Given the description of an element on the screen output the (x, y) to click on. 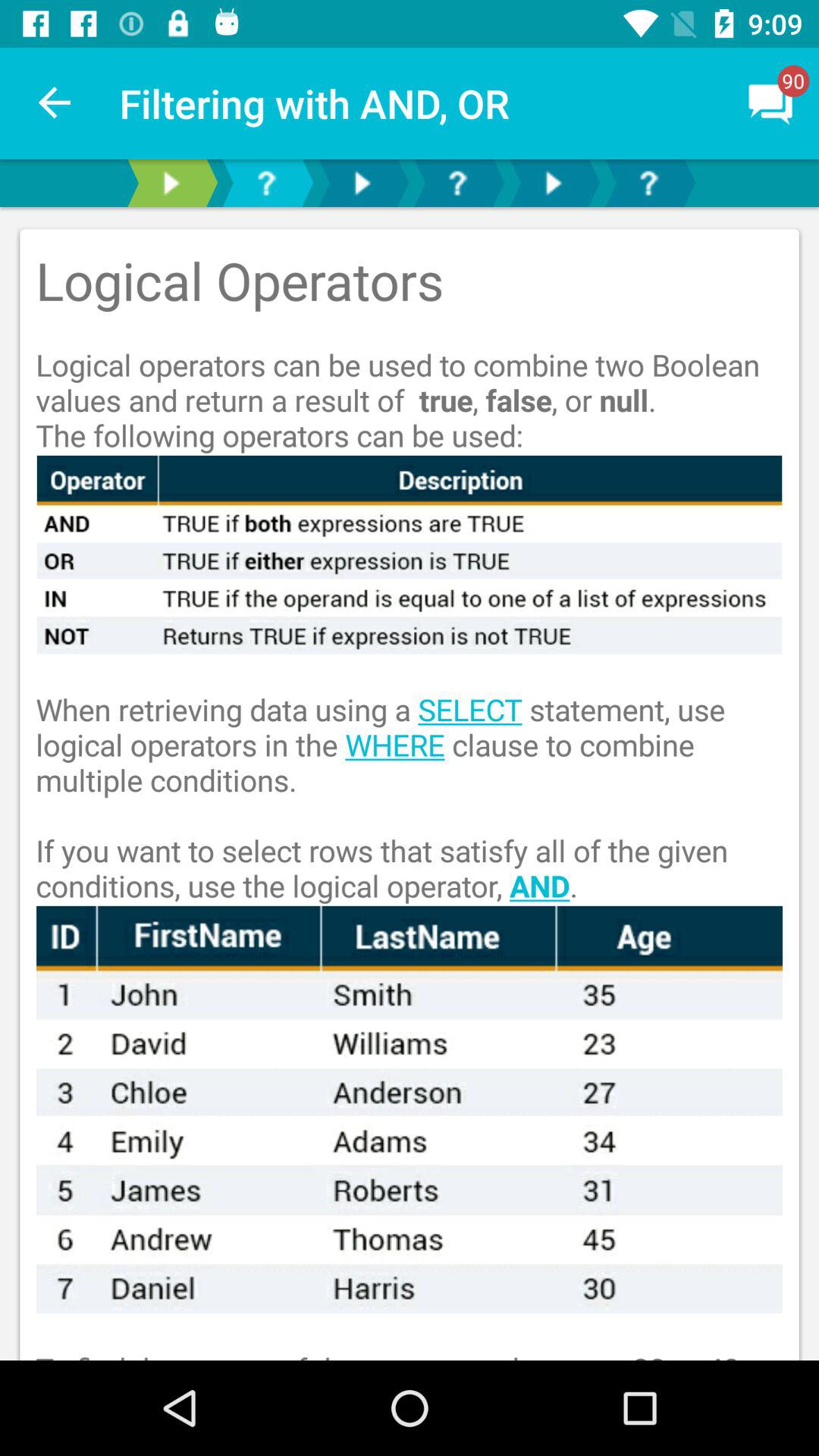
swipe until the when retrieving data item (409, 780)
